Given the description of an element on the screen output the (x, y) to click on. 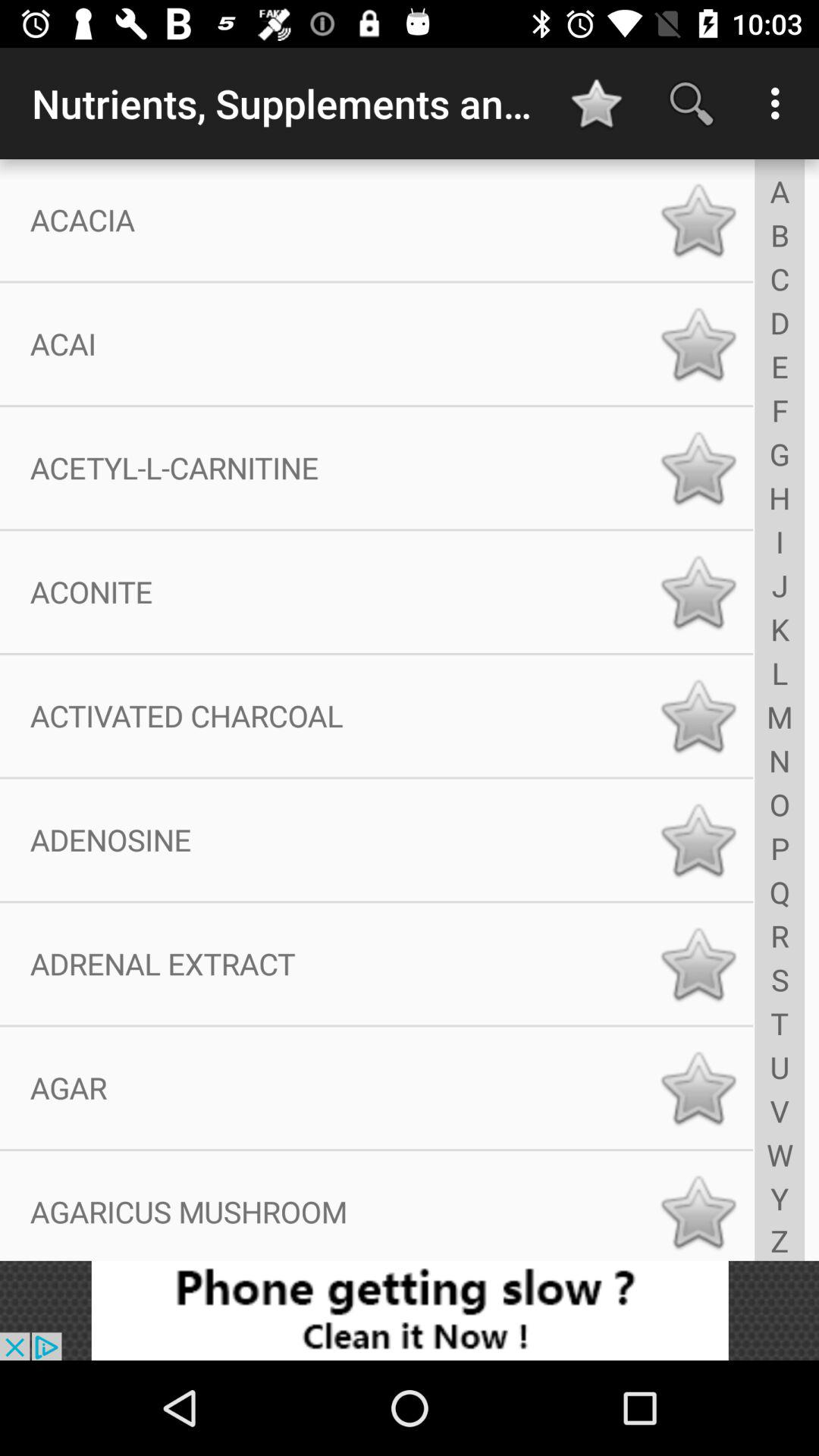
mark as favorite (697, 1211)
